Given the description of an element on the screen output the (x, y) to click on. 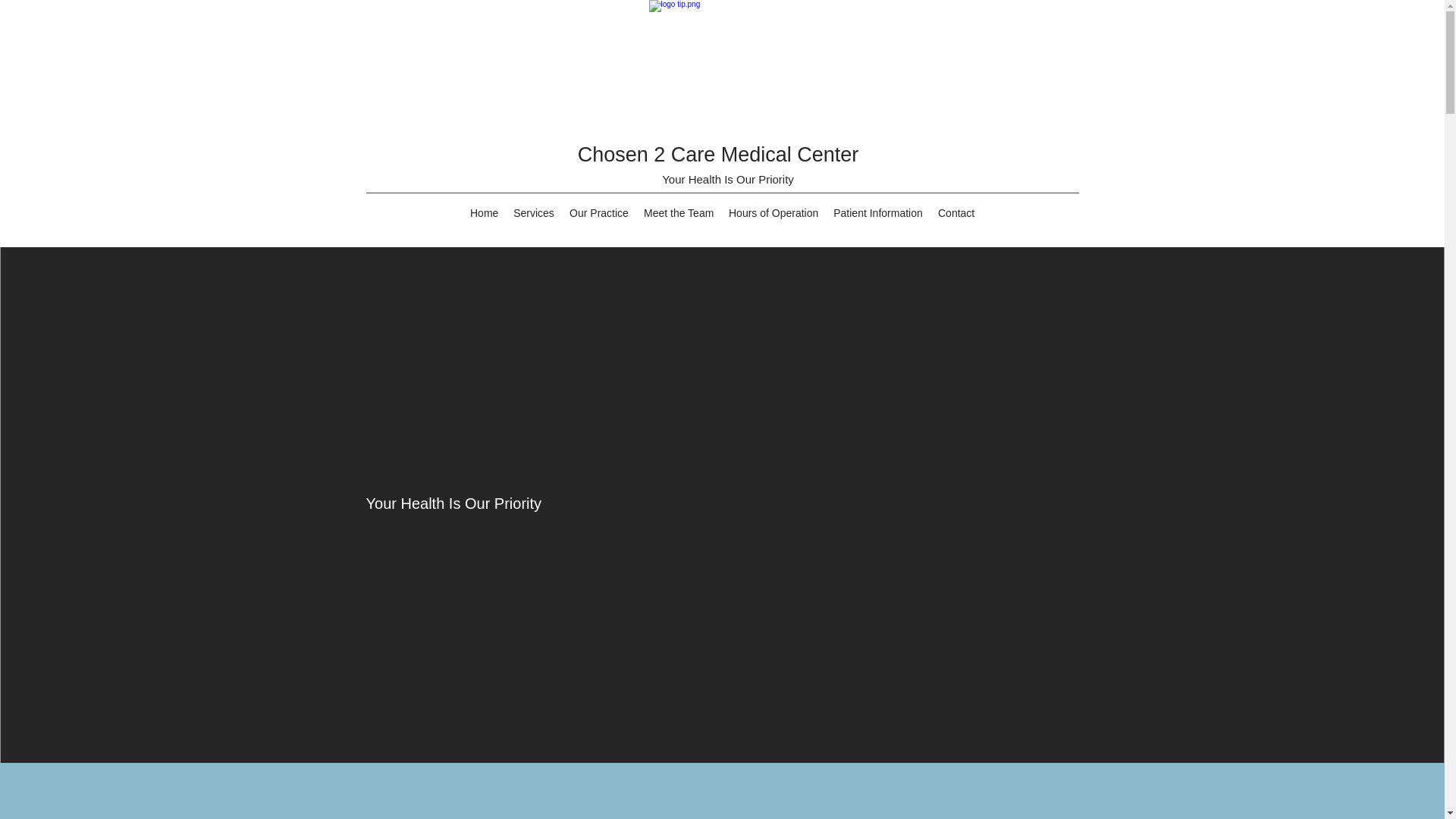
Contact (955, 212)
Chosen 2 Care Medical Center (718, 154)
Our Practice (599, 212)
Hours of Operation (772, 212)
Patient Information (877, 212)
Services (533, 212)
Home (484, 212)
Meet the Team (678, 212)
